Given the description of an element on the screen output the (x, y) to click on. 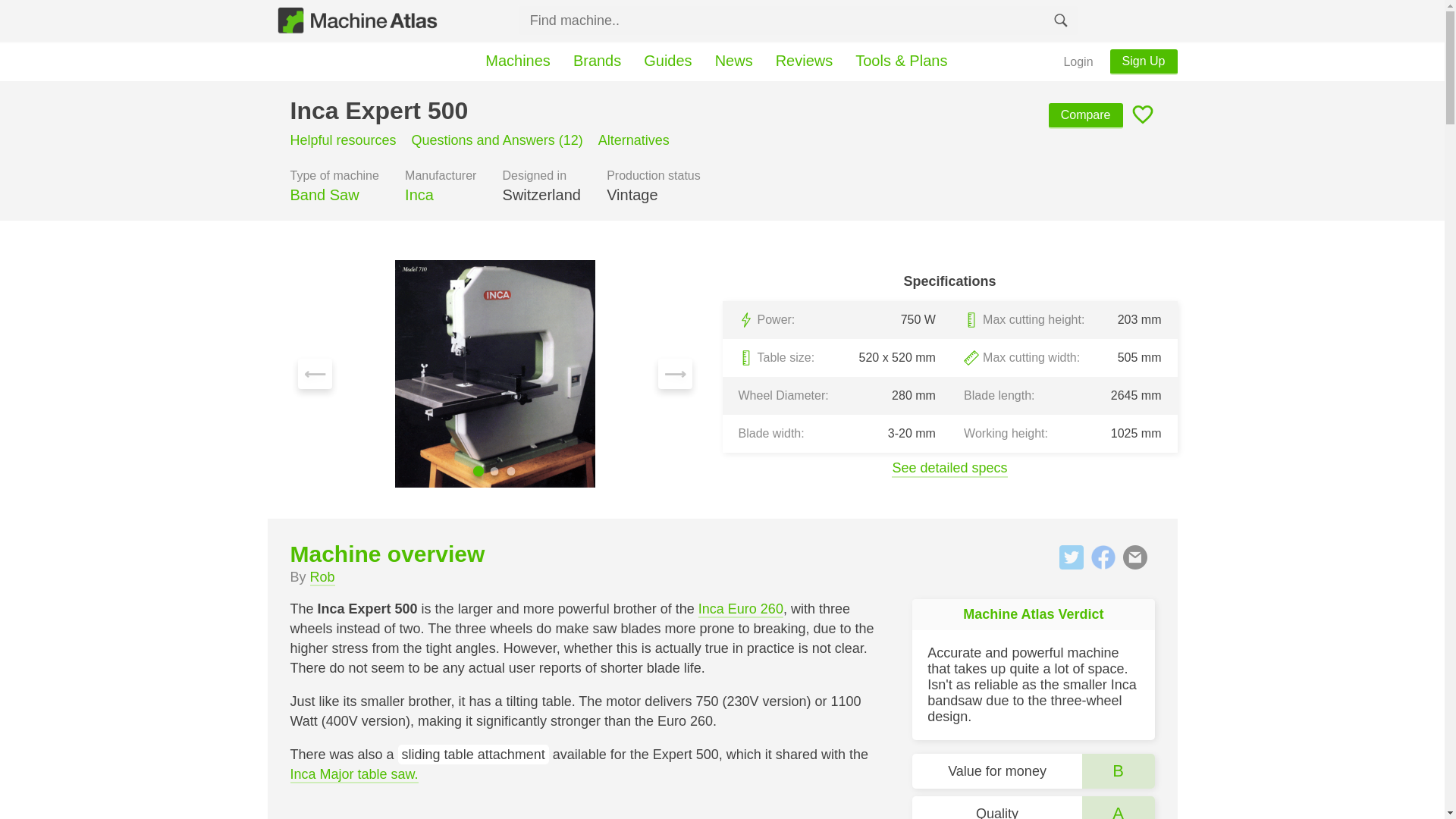
Inca (440, 195)
Rob (322, 577)
Alternatives (633, 142)
Compare (1085, 115)
Login (1078, 62)
Posts by Rob (322, 577)
Brands (596, 61)
Helpful resources (342, 142)
Reviews (804, 61)
See detailed specs (949, 468)
News (733, 61)
Band Saw (333, 195)
Sign Up (1143, 62)
Guides (667, 61)
Inca Euro 260 (740, 609)
